Given the description of an element on the screen output the (x, y) to click on. 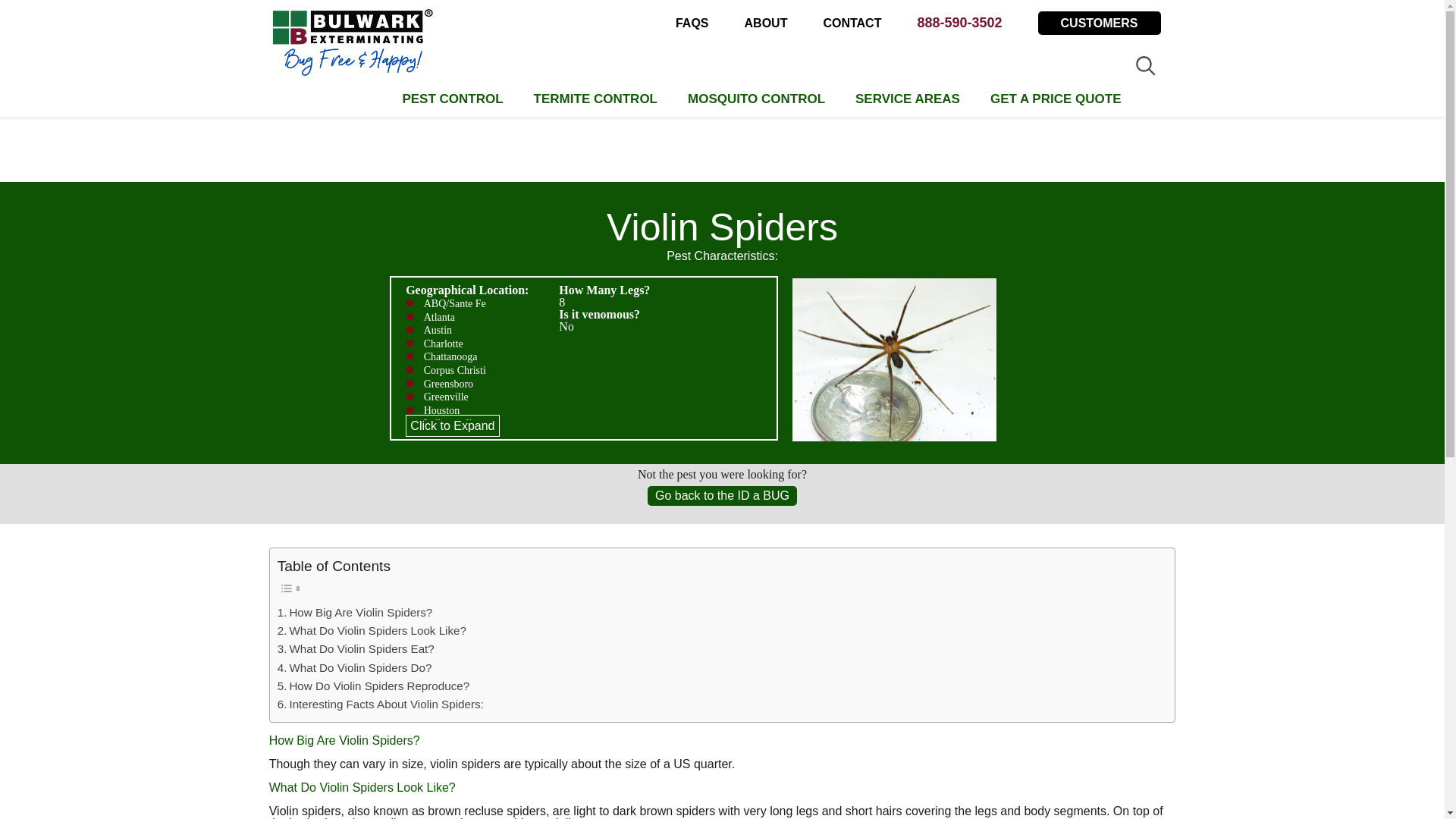
How Big Are Violin Spiders? (355, 612)
What Do Violin Spiders Do? (355, 668)
How Do Violin Spiders Reproduce? (374, 686)
Go back to the ID a BUG (722, 495)
ABOUT (765, 22)
CUSTOMERS (1099, 23)
Interesting Facts About Violin Spiders: (380, 704)
Click to Expand (452, 425)
What Do Violin Spiders Look Like? (371, 630)
PEST CONTROL (452, 92)
CONTACT (851, 22)
What Do Violin Spiders Look Like? (371, 630)
888-590-3502 (959, 22)
MOSQUITO CONTROL (756, 92)
TERMITE CONTROL (595, 92)
